Given the description of an element on the screen output the (x, y) to click on. 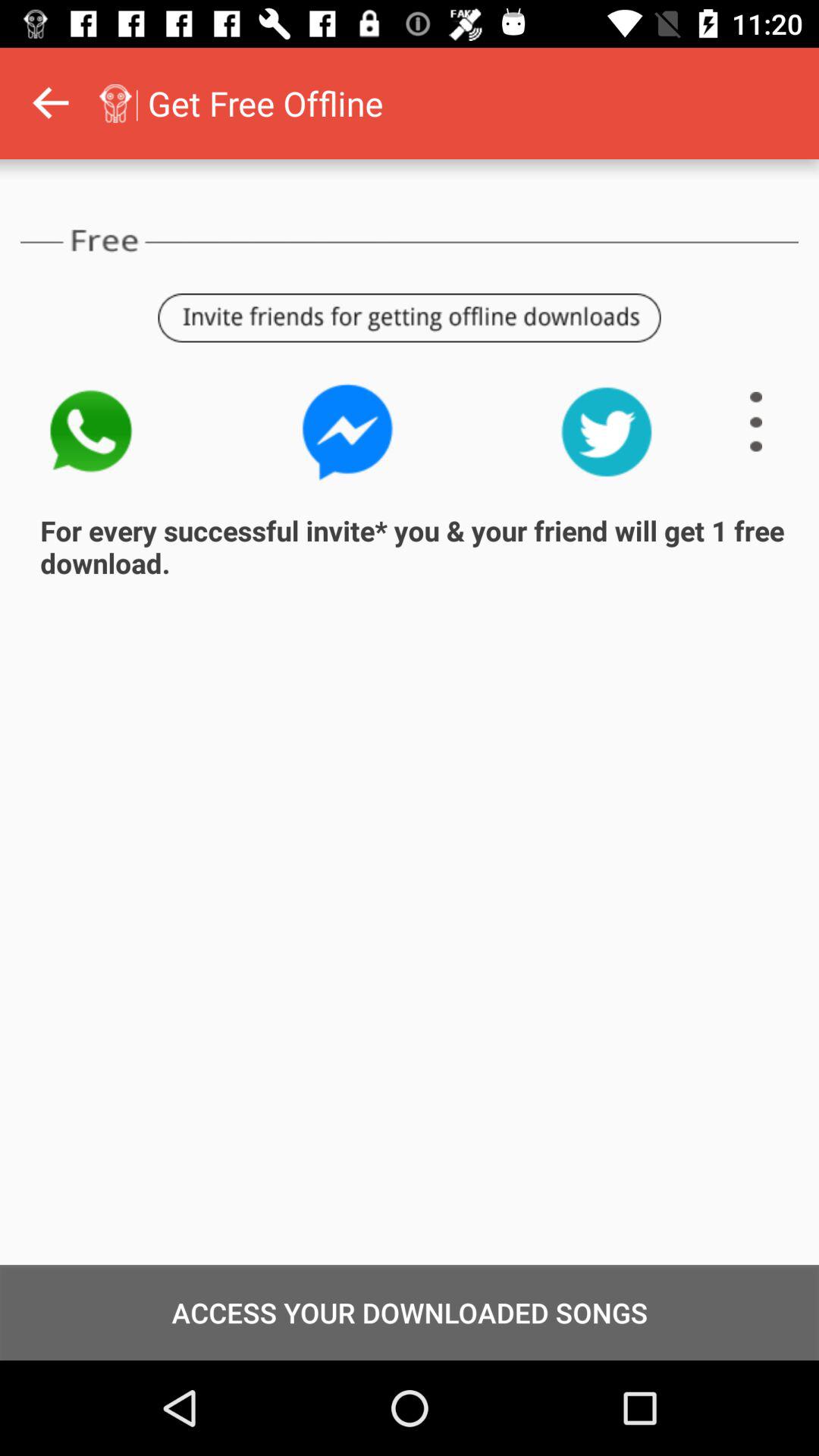
go back (50, 102)
